Given the description of an element on the screen output the (x, y) to click on. 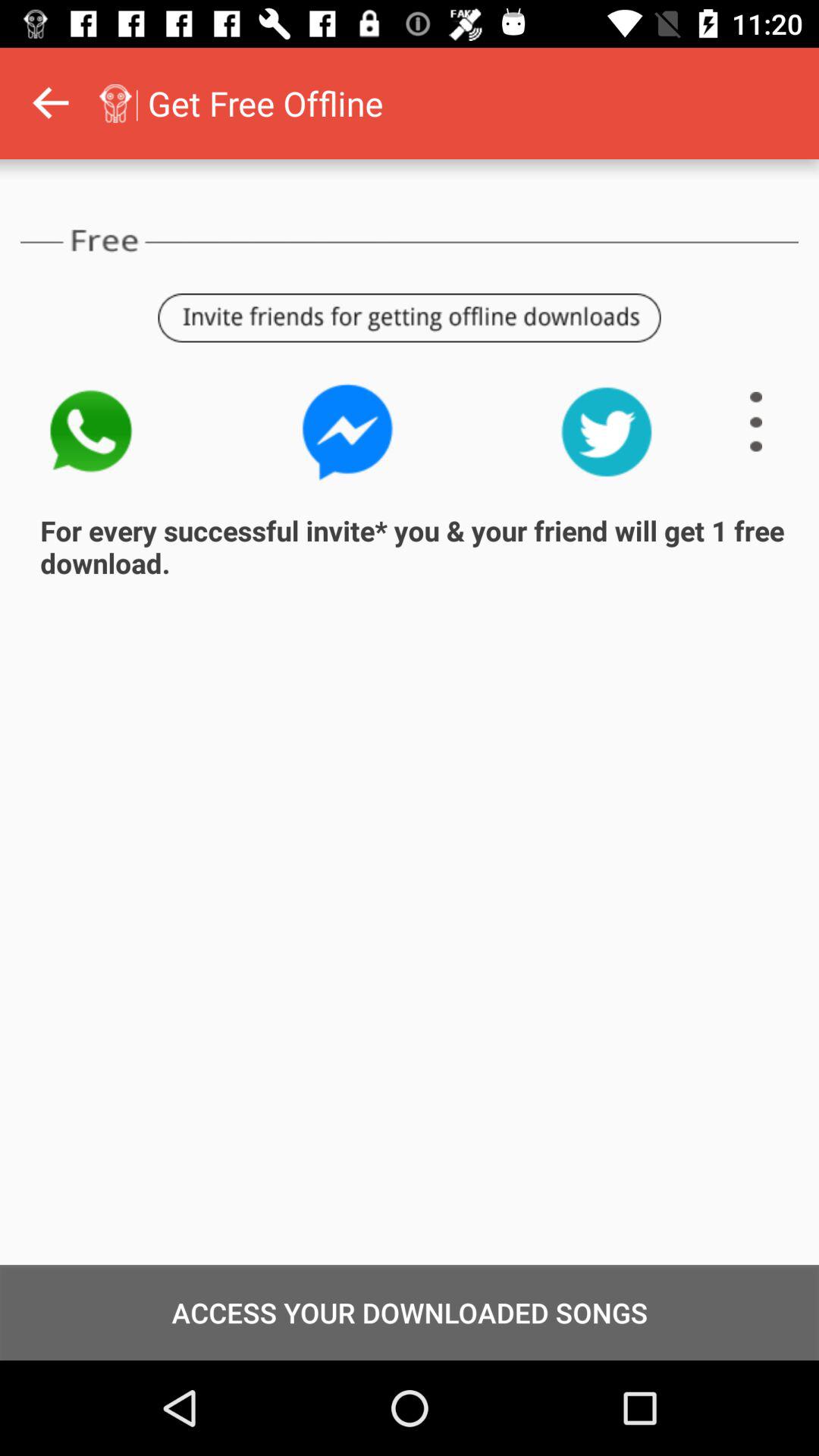
go back (50, 102)
